Given the description of an element on the screen output the (x, y) to click on. 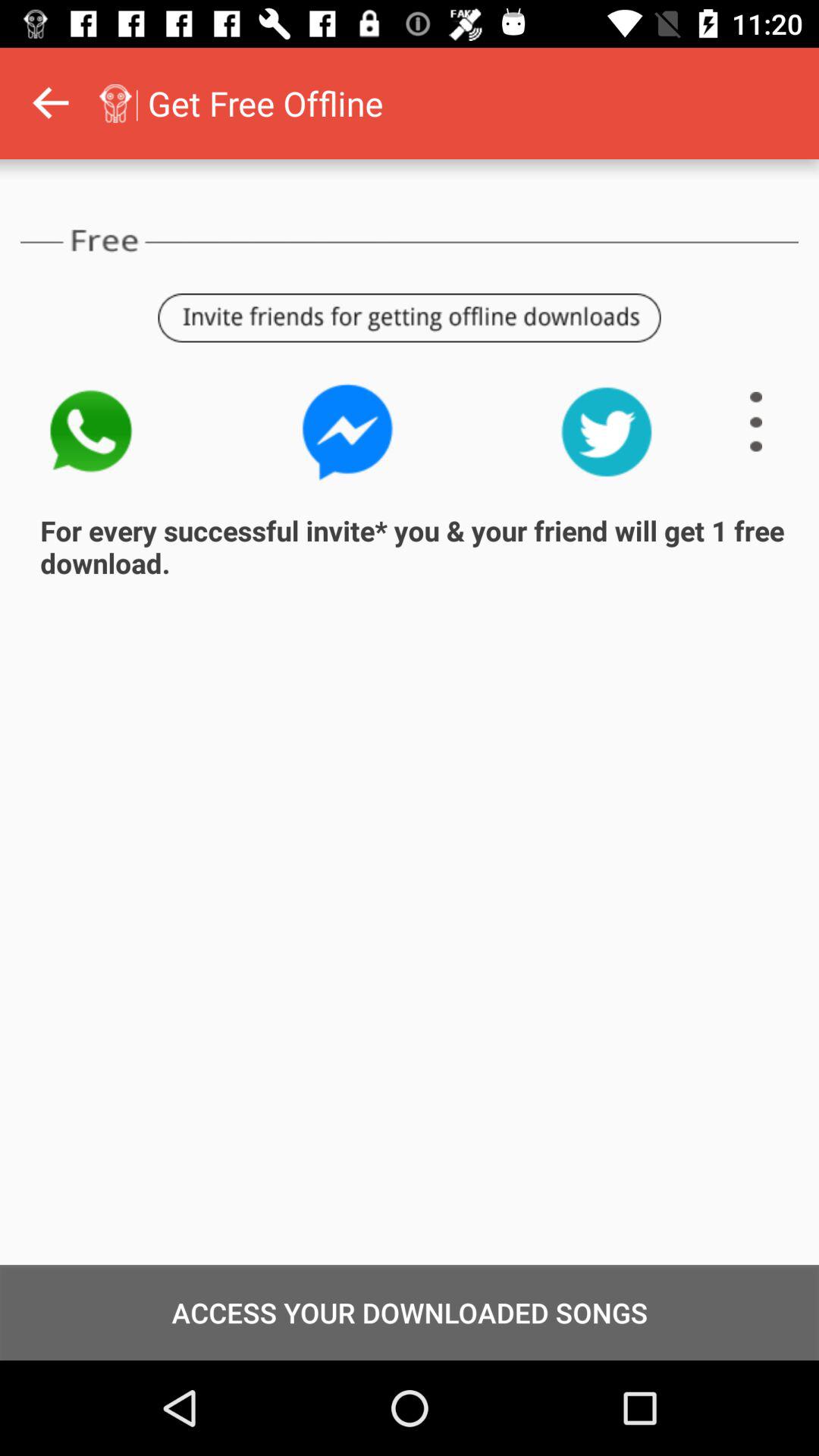
go back (50, 102)
